Given the description of an element on the screen output the (x, y) to click on. 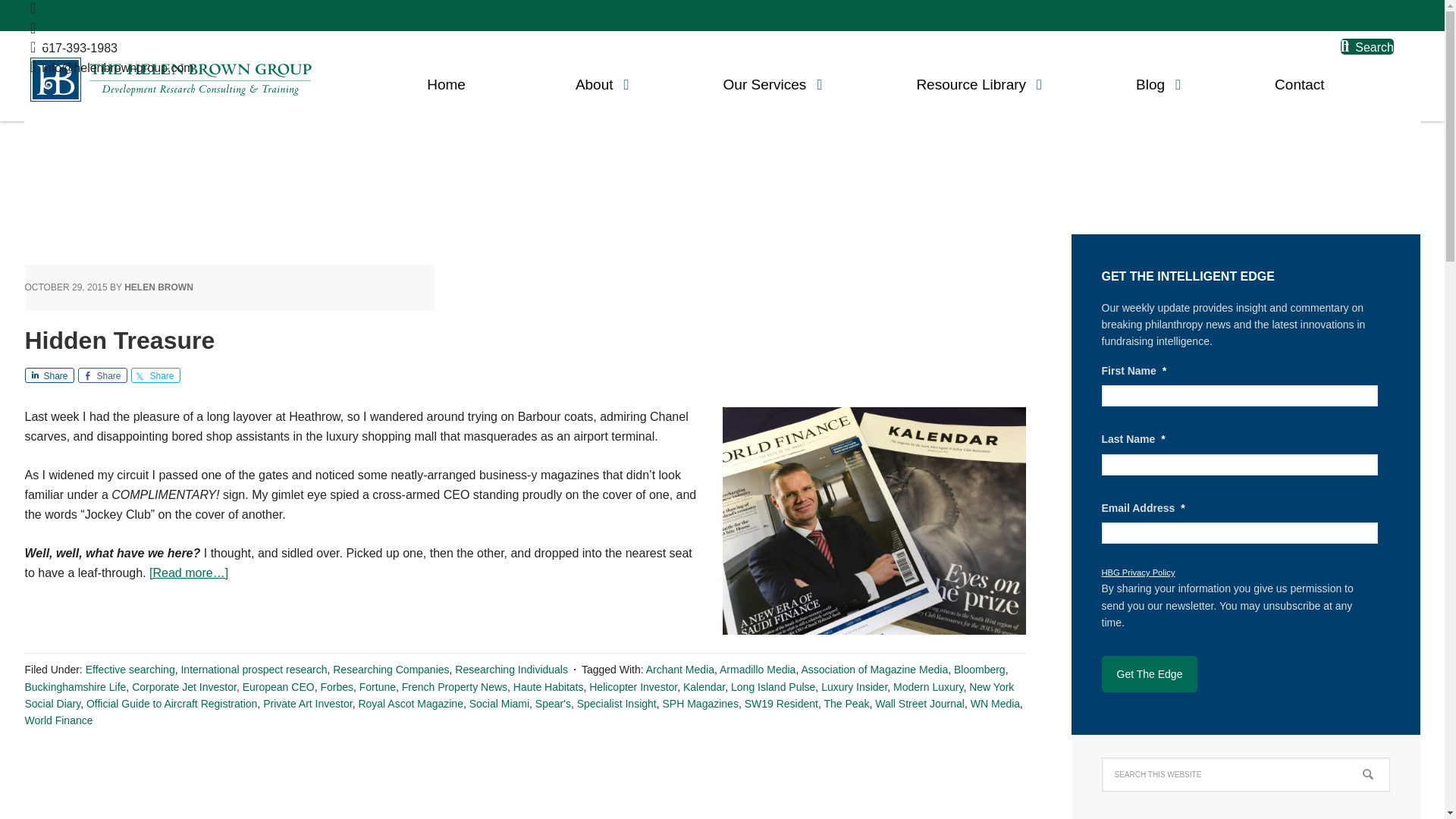
Get The Edge (1148, 674)
Our Services (764, 79)
Helen Brown Group (170, 79)
617-393-1983 (73, 47)
Search (1366, 46)
Resource Library (971, 79)
